Given the description of an element on the screen output the (x, y) to click on. 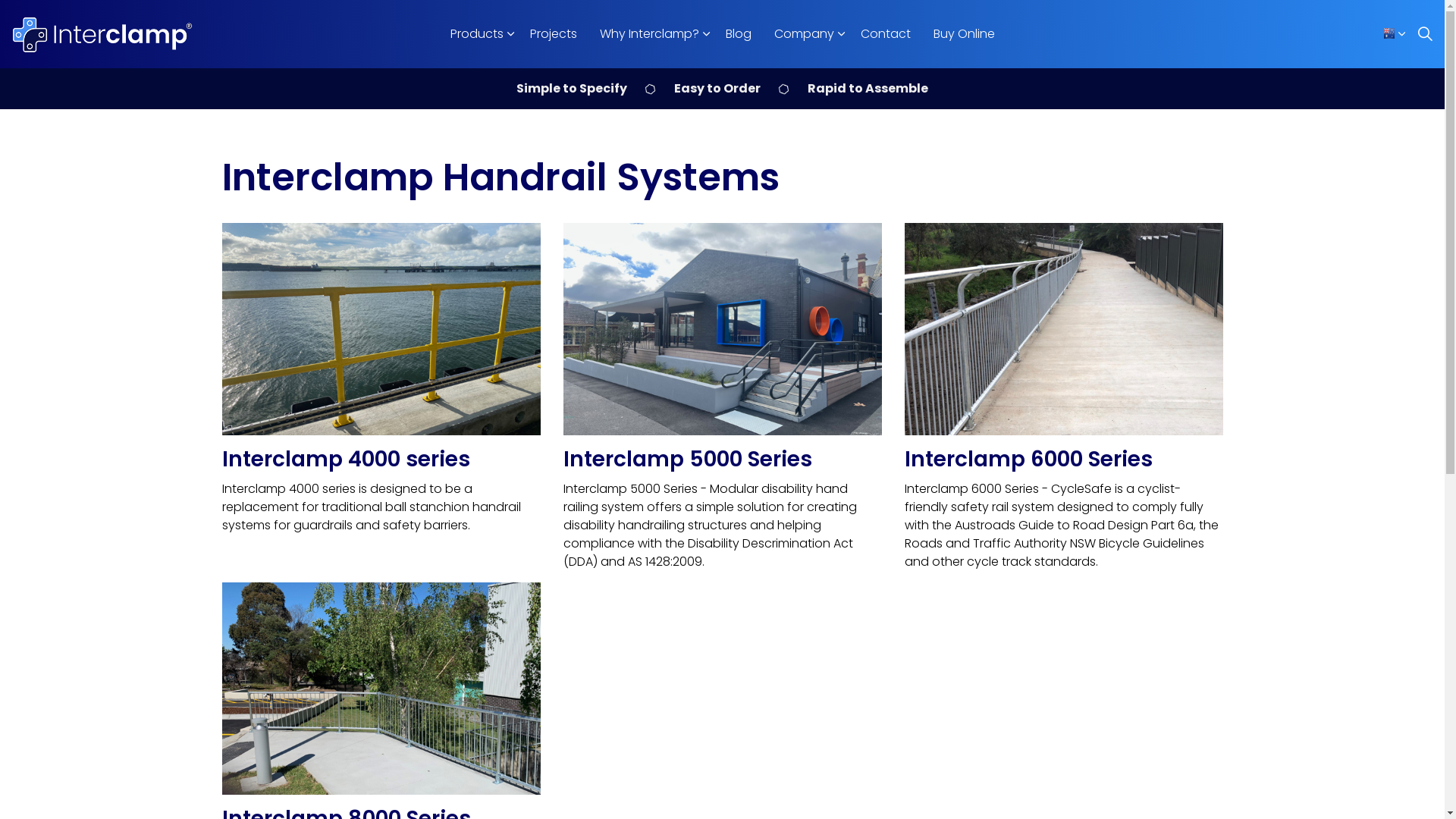
Buy Online Element type: text (964, 34)
Contact Element type: text (885, 34)
Projects Element type: text (553, 34)
Why Interclamp? Element type: text (651, 34)
Interclamp Element type: hover (100, 33)
Products Element type: text (477, 34)
Blog Element type: text (738, 34)
Company Element type: text (805, 34)
